Given the description of an element on the screen output the (x, y) to click on. 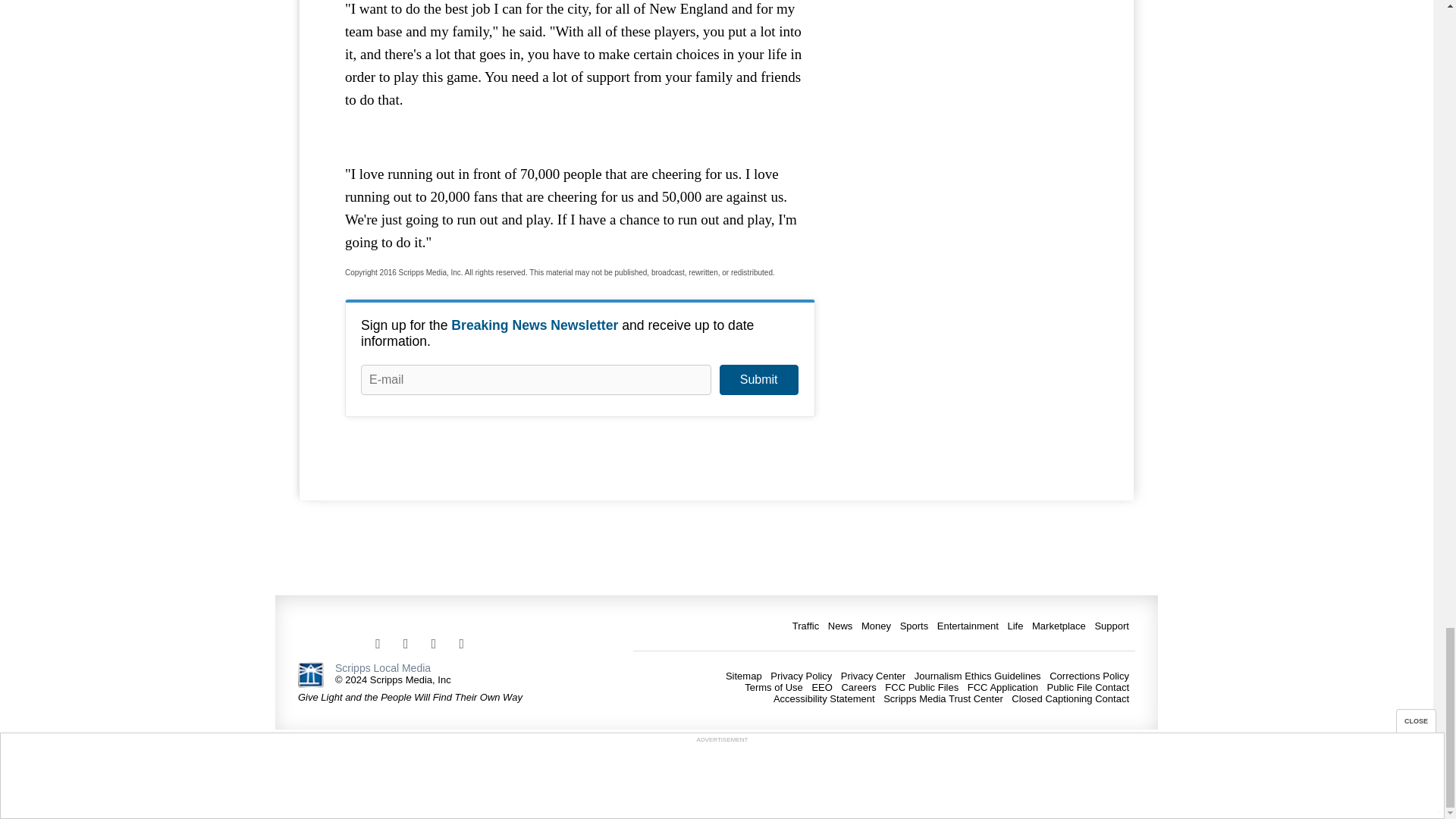
Submit (758, 379)
